Given the description of an element on the screen output the (x, y) to click on. 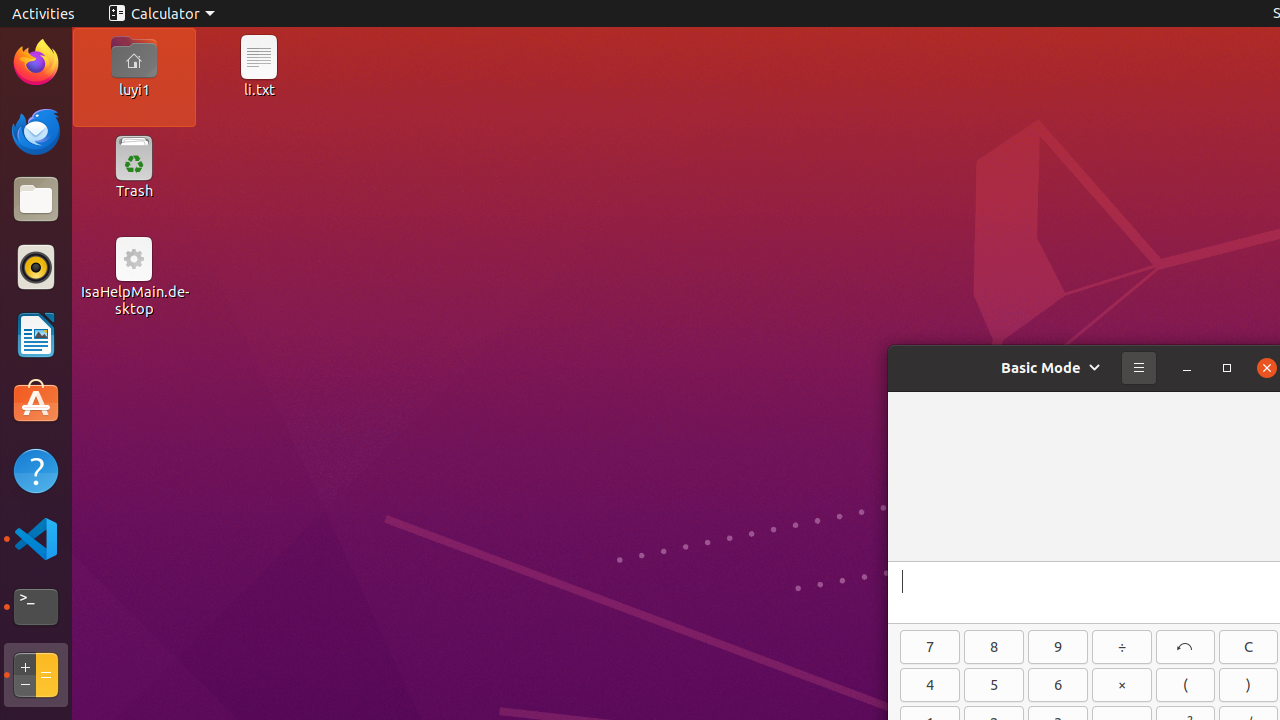
Minimize Element type: push-button (1187, 368)
luyi1 Element type: label (133, 89)
) Element type: push-button (1248, 685)
Calculator Element type: menu (161, 13)
IsaHelpMain.desktop Element type: label (133, 300)
